Given the description of an element on the screen output the (x, y) to click on. 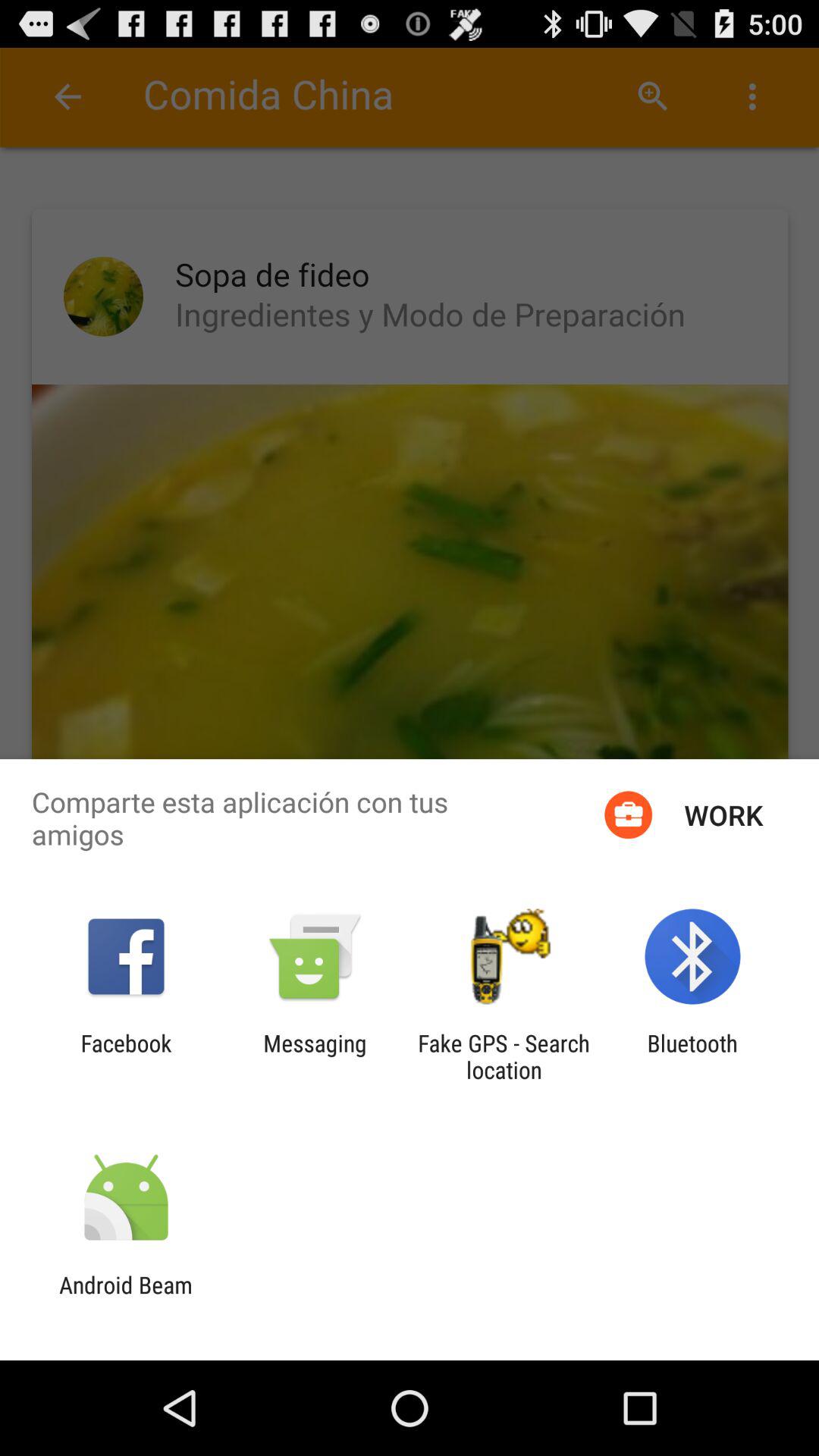
open the facebook icon (125, 1056)
